Given the description of an element on the screen output the (x, y) to click on. 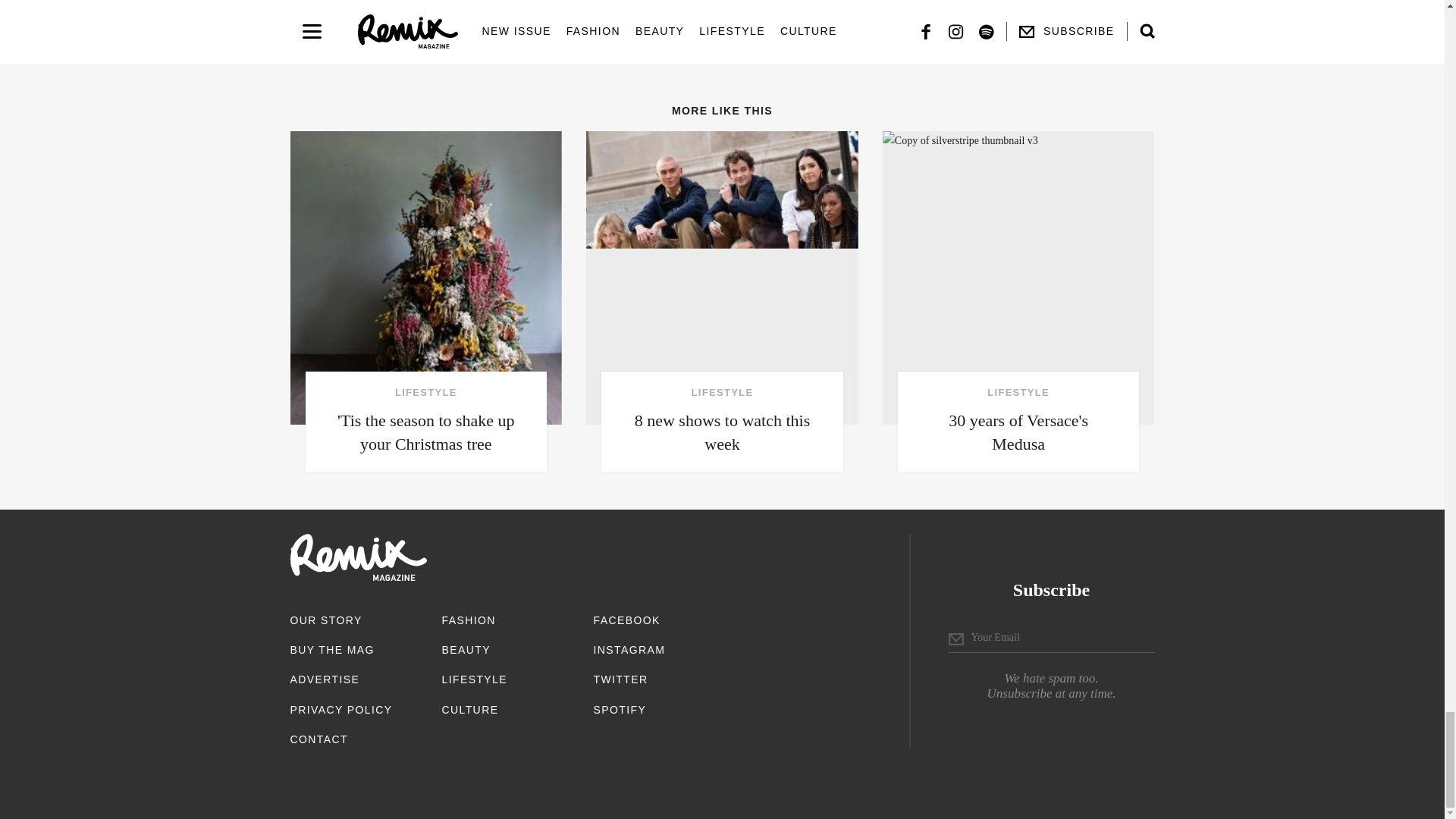
vca july leaderboard 2024 (666, 12)
Navigate to 'Tis the season to shake up your Christmas tree (425, 301)
Navigate to Celebrating 30 years of Gianni Versace's Medusa  (1018, 301)
Follow Remix Magazine on Facebook (625, 620)
Follow Remix Magazine on Instagram (628, 649)
Follow Remix Magazine on Twitter (619, 679)
